Given the description of an element on the screen output the (x, y) to click on. 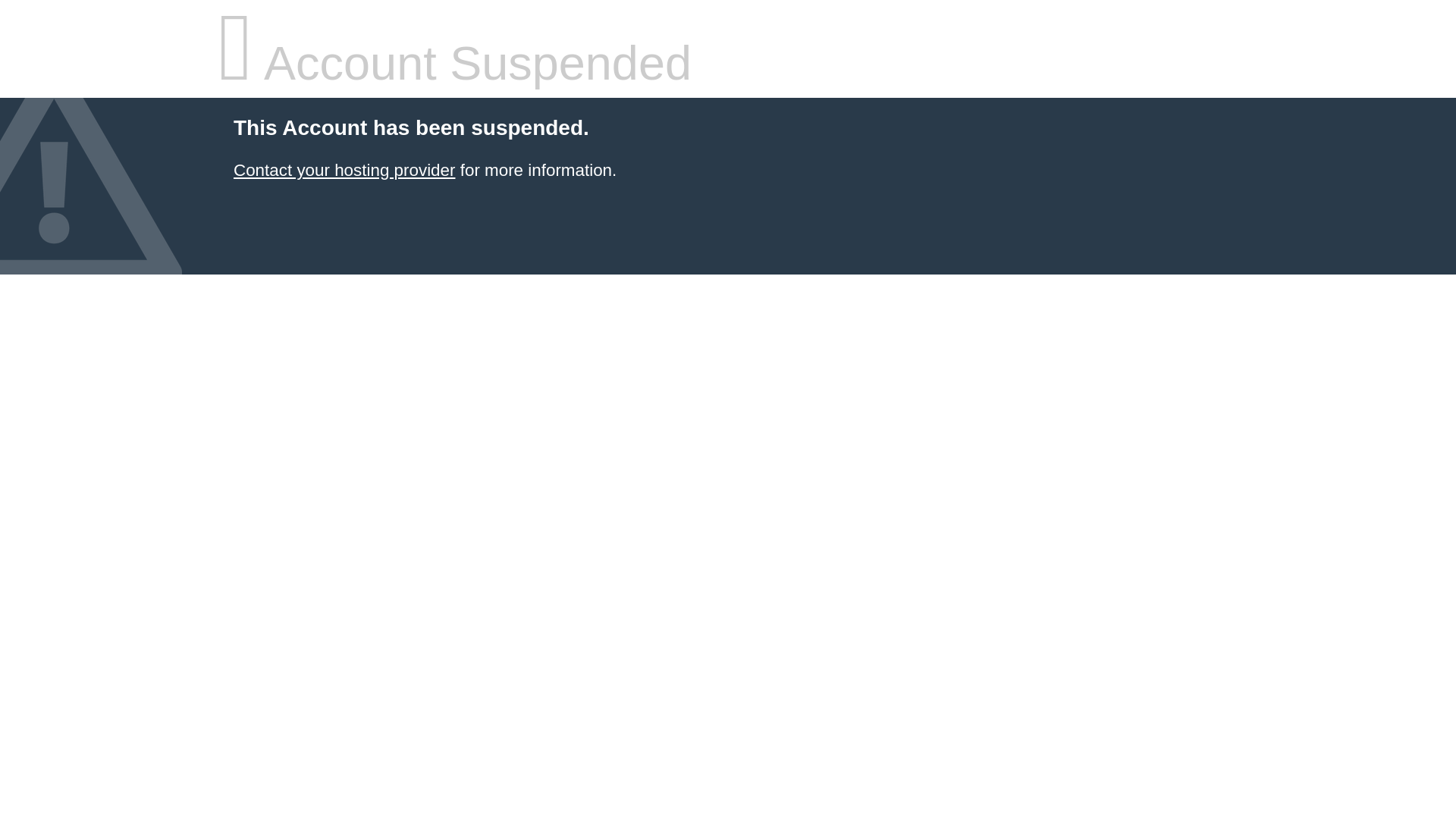
Contact your hosting provider (343, 169)
